Given the description of an element on the screen output the (x, y) to click on. 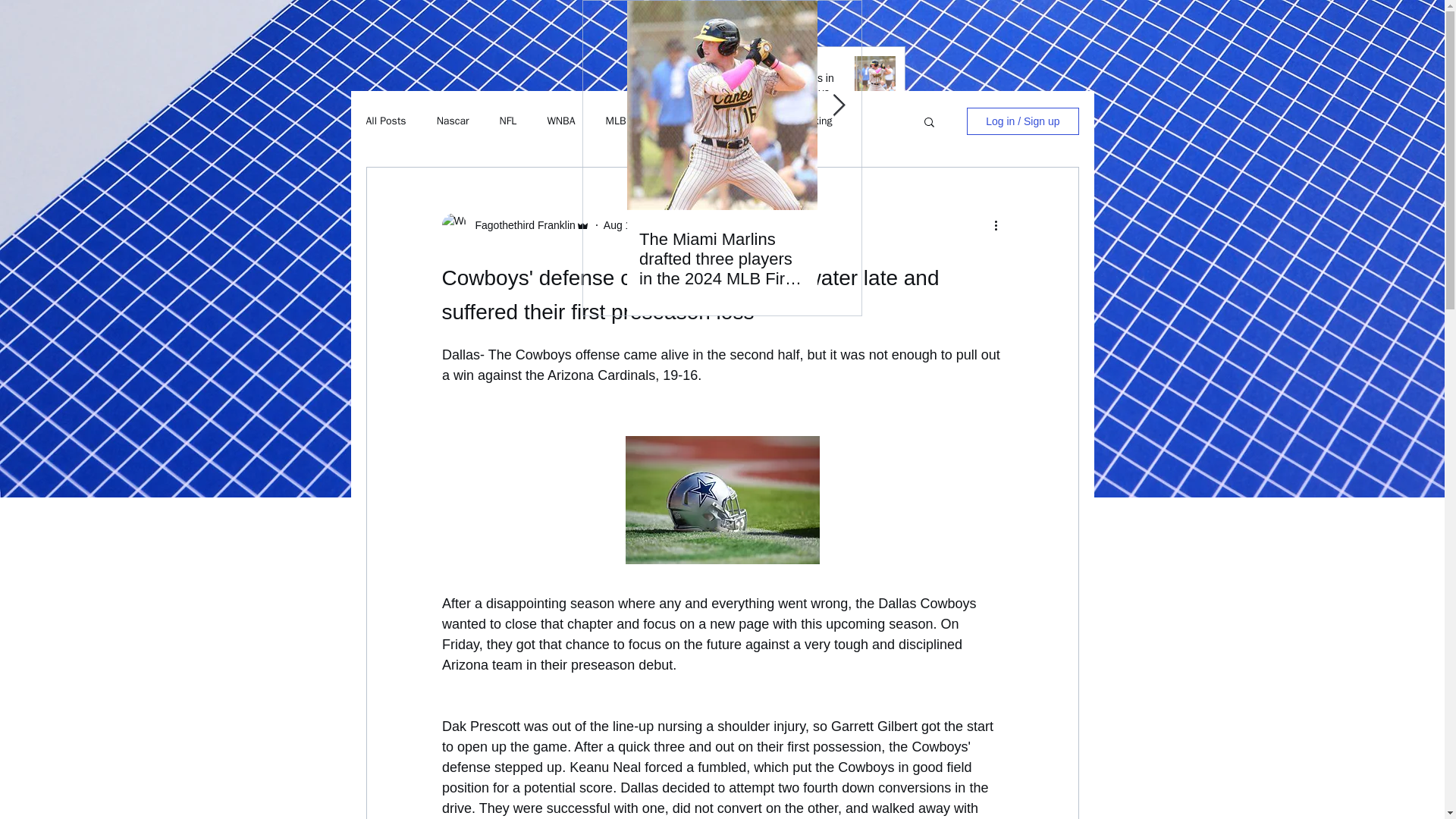
MLB (615, 120)
Pac-12 solidifies bowl lineup for 2024 and 2025 (783, 272)
All Posts (385, 120)
2 min read (704, 224)
NFL (507, 120)
Boxing (816, 120)
Aug 13, 2021 (635, 224)
Fagothethird Franklin (520, 224)
Entertainment (689, 120)
7 hours ago (749, 310)
7 hours ago (749, 214)
NBA (761, 120)
WNBA (561, 120)
